Given the description of an element on the screen output the (x, y) to click on. 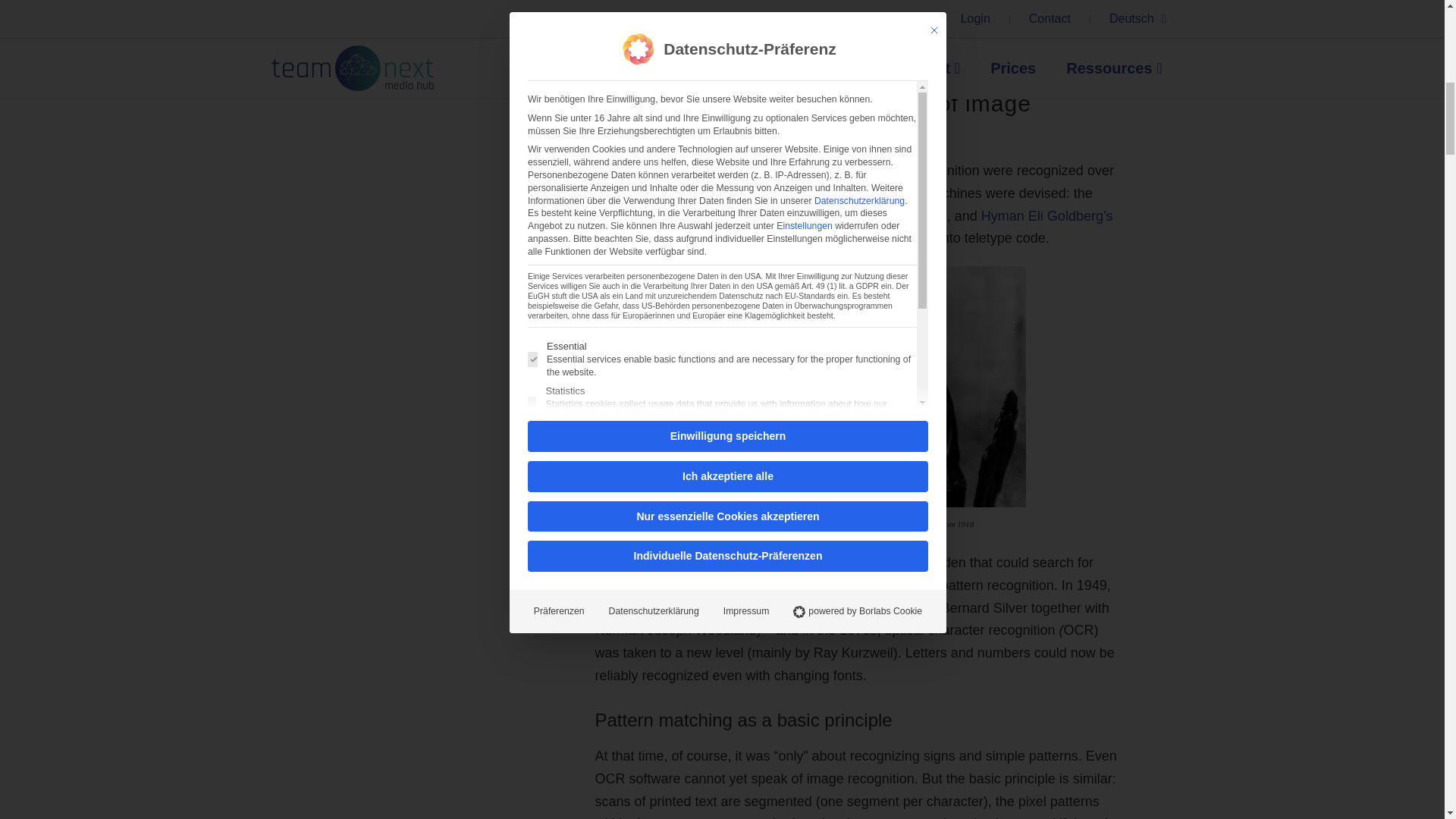
Image recognition with teamnext image management software (403, 89)
Exciting examples in the field of object recognition (403, 30)
optophone (626, 215)
